Given the description of an element on the screen output the (x, y) to click on. 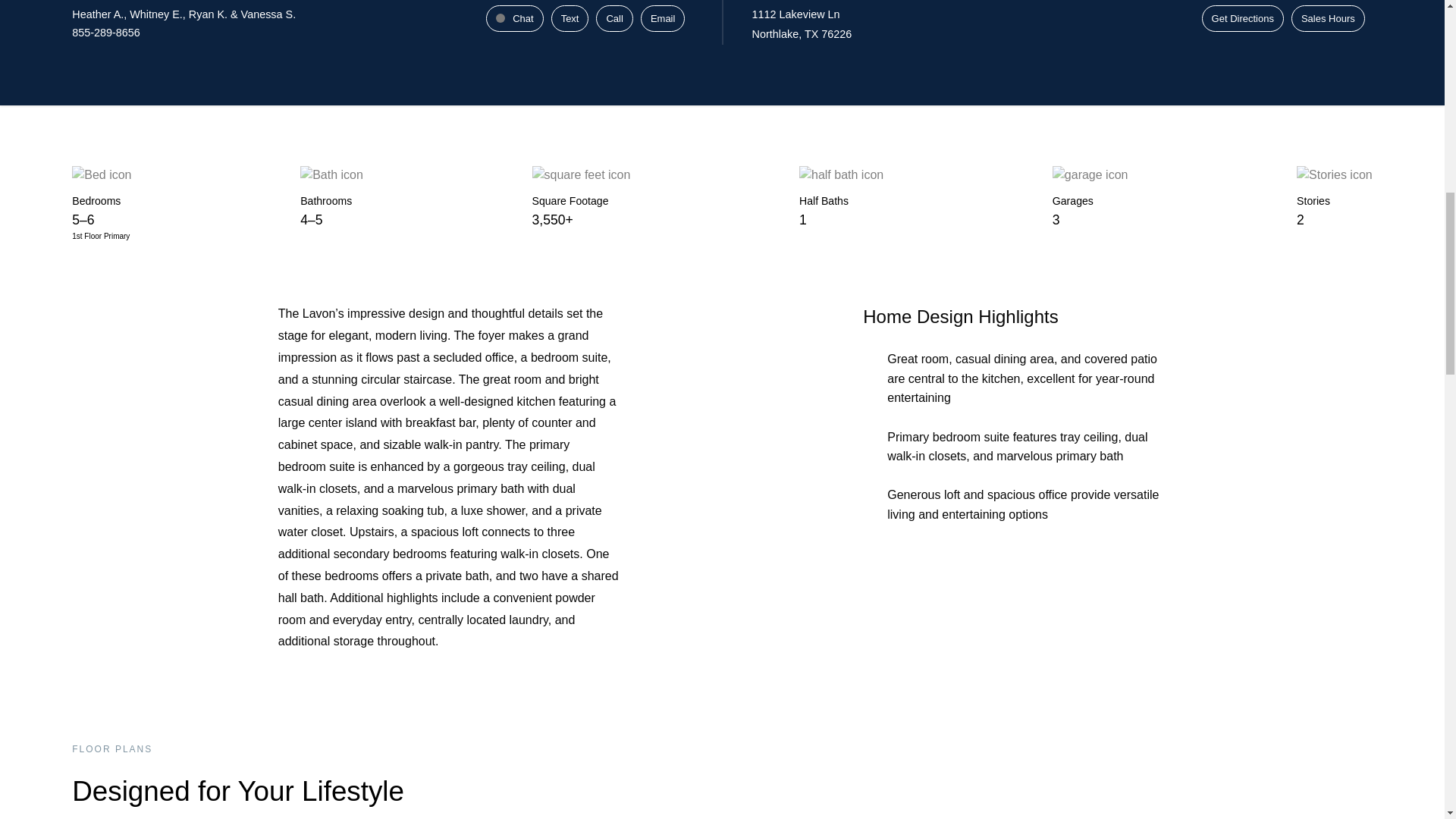
855-289-8656 (105, 32)
Chat (514, 17)
Call our Online Sales Team (613, 17)
Sales Hours (1328, 17)
Text (570, 17)
Email (662, 17)
Text our Online Sales Team (570, 17)
Get Directions (1243, 17)
Sales Hours (1328, 17)
Get Directions (1243, 17)
